Given the description of an element on the screen output the (x, y) to click on. 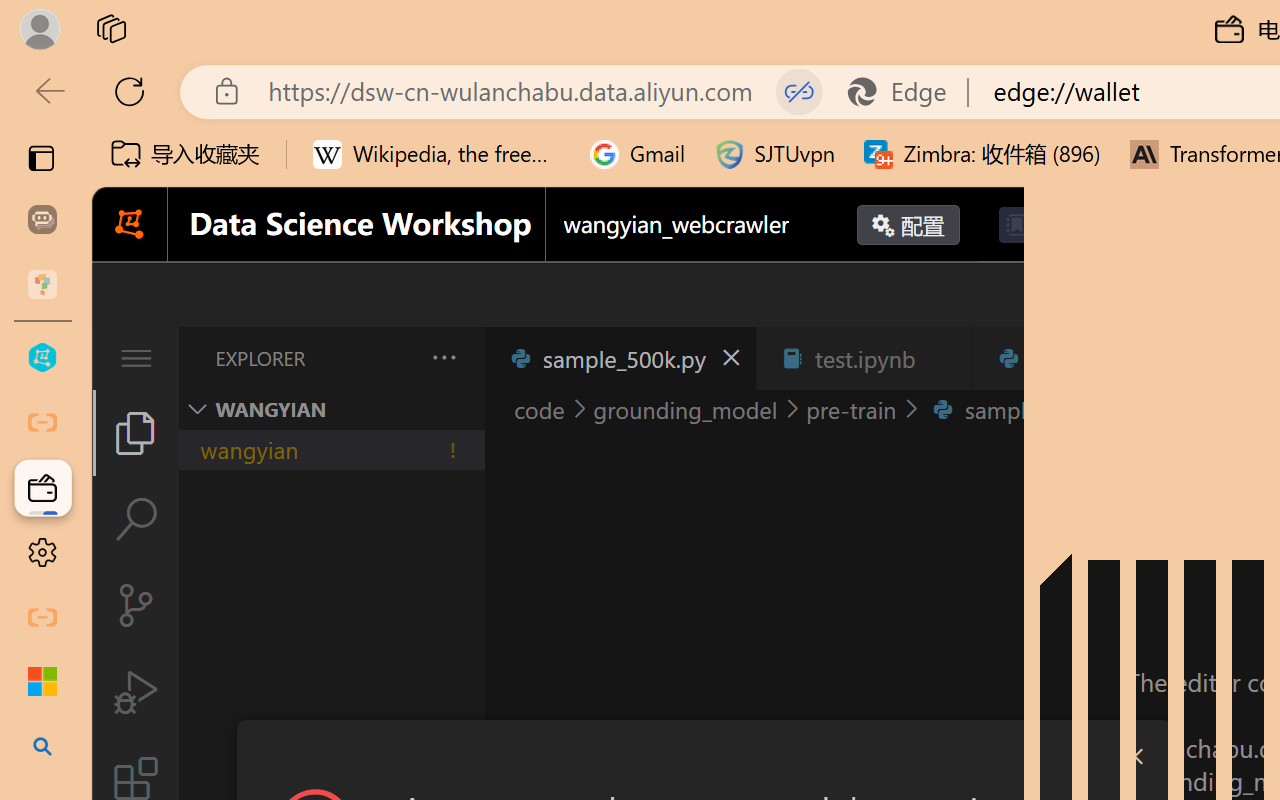
Explorer Section: wangyian (331, 409)
Close Dialog (1133, 756)
Notebook (1083, 225)
Application Menu (135, 358)
Class: actions-container (703, 756)
Views and More Actions... (442, 357)
